Given the description of an element on the screen output the (x, y) to click on. 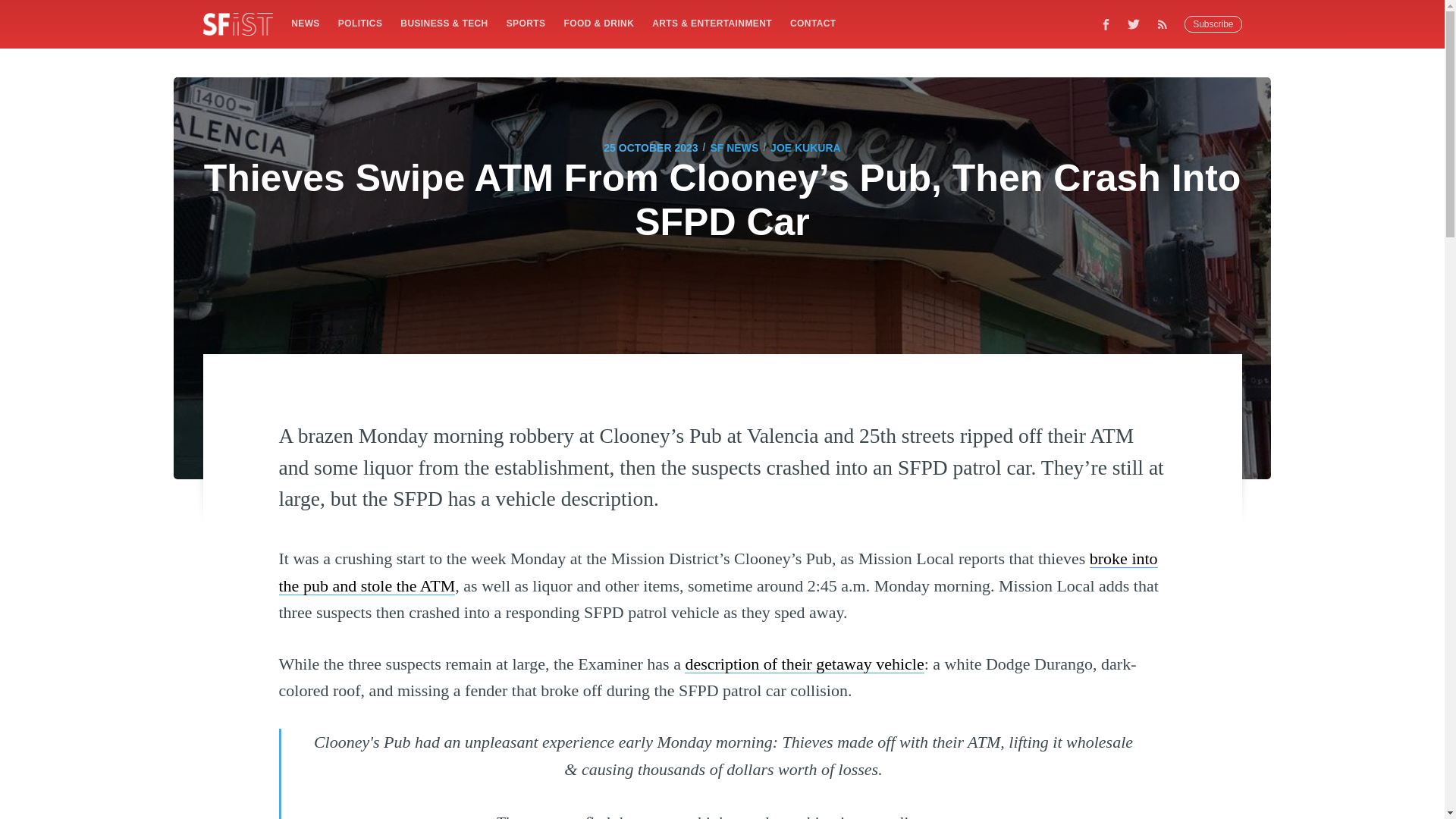
Facebook (1106, 23)
description of their getaway vehicle (803, 663)
Subscribe (1213, 23)
SF NEWS (734, 147)
RSS (1166, 23)
JOE KUKURA (805, 147)
Twitter (1133, 23)
broke into the pub and stole the ATM (718, 571)
CONTACT (812, 23)
NEWS (305, 23)
POLITICS (360, 23)
SPORTS (525, 23)
